Given the description of an element on the screen output the (x, y) to click on. 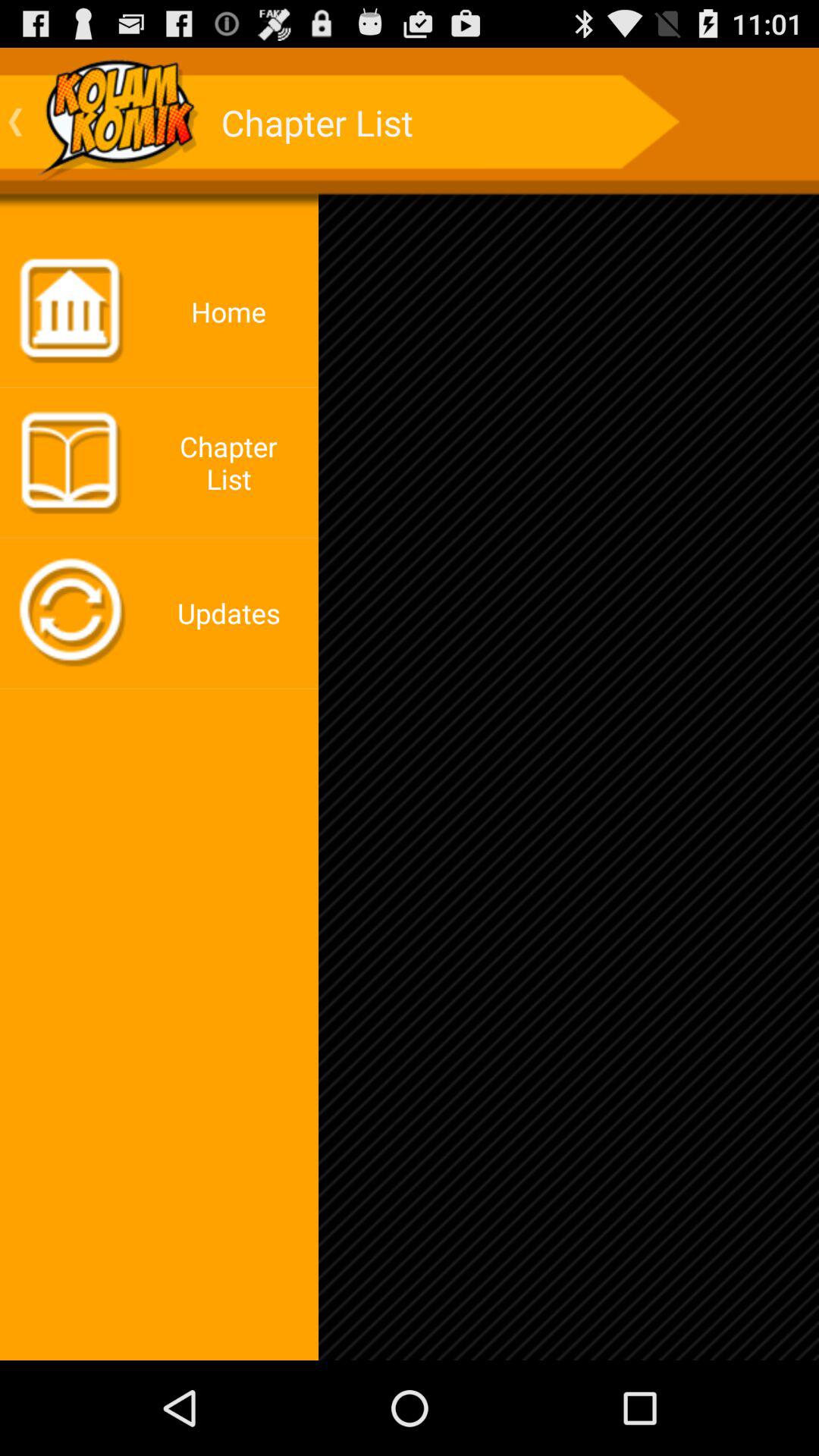
press updates (232, 613)
